Given the description of an element on the screen output the (x, y) to click on. 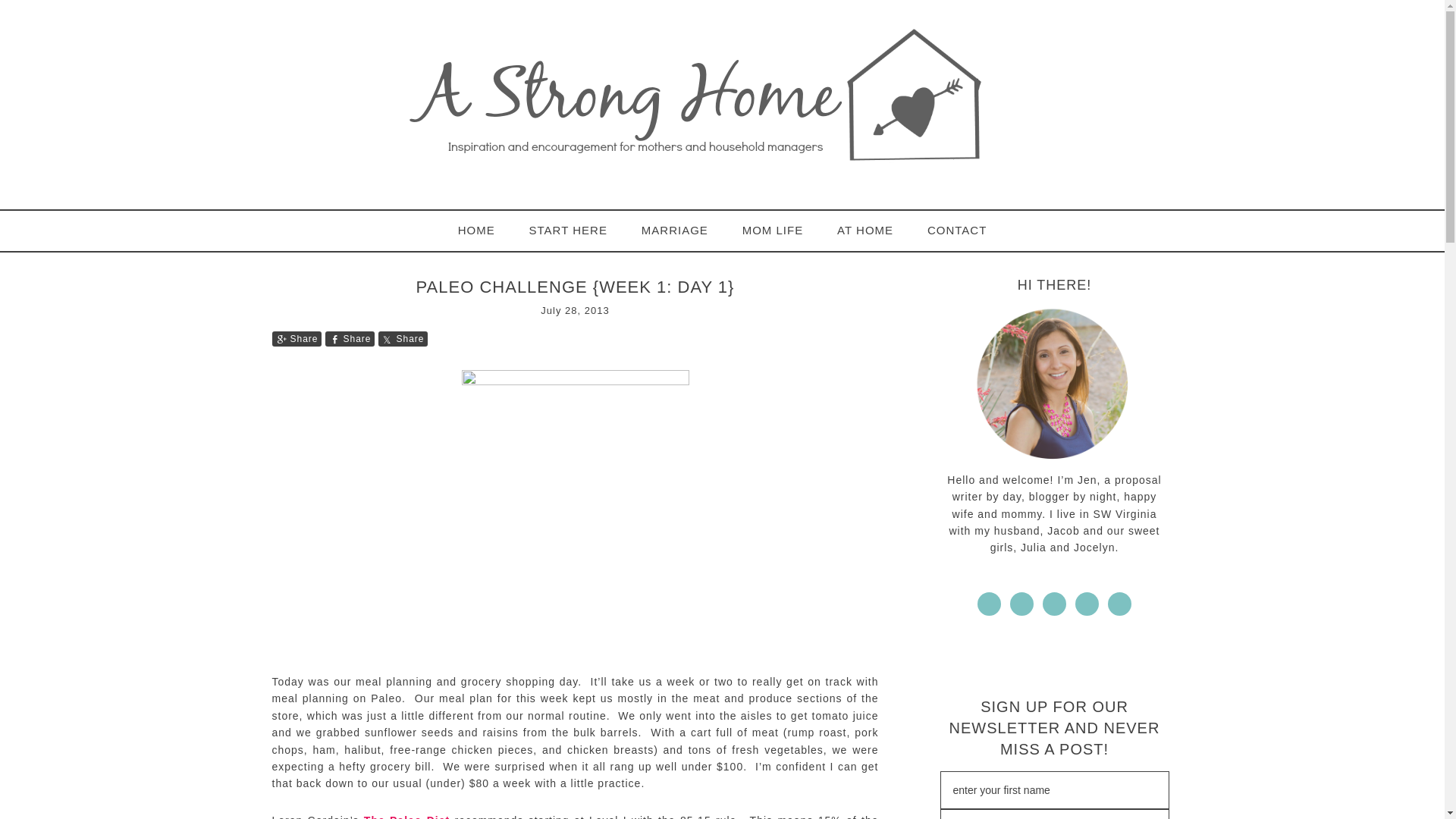
The Paleo Diet (406, 816)
CONTACT (956, 230)
enter your email (1054, 814)
Share (401, 338)
MARRIAGE (674, 230)
START HERE (568, 230)
Share (295, 338)
AT HOME (865, 230)
MOM LIFE (772, 230)
HOME (476, 230)
